Given the description of an element on the screen output the (x, y) to click on. 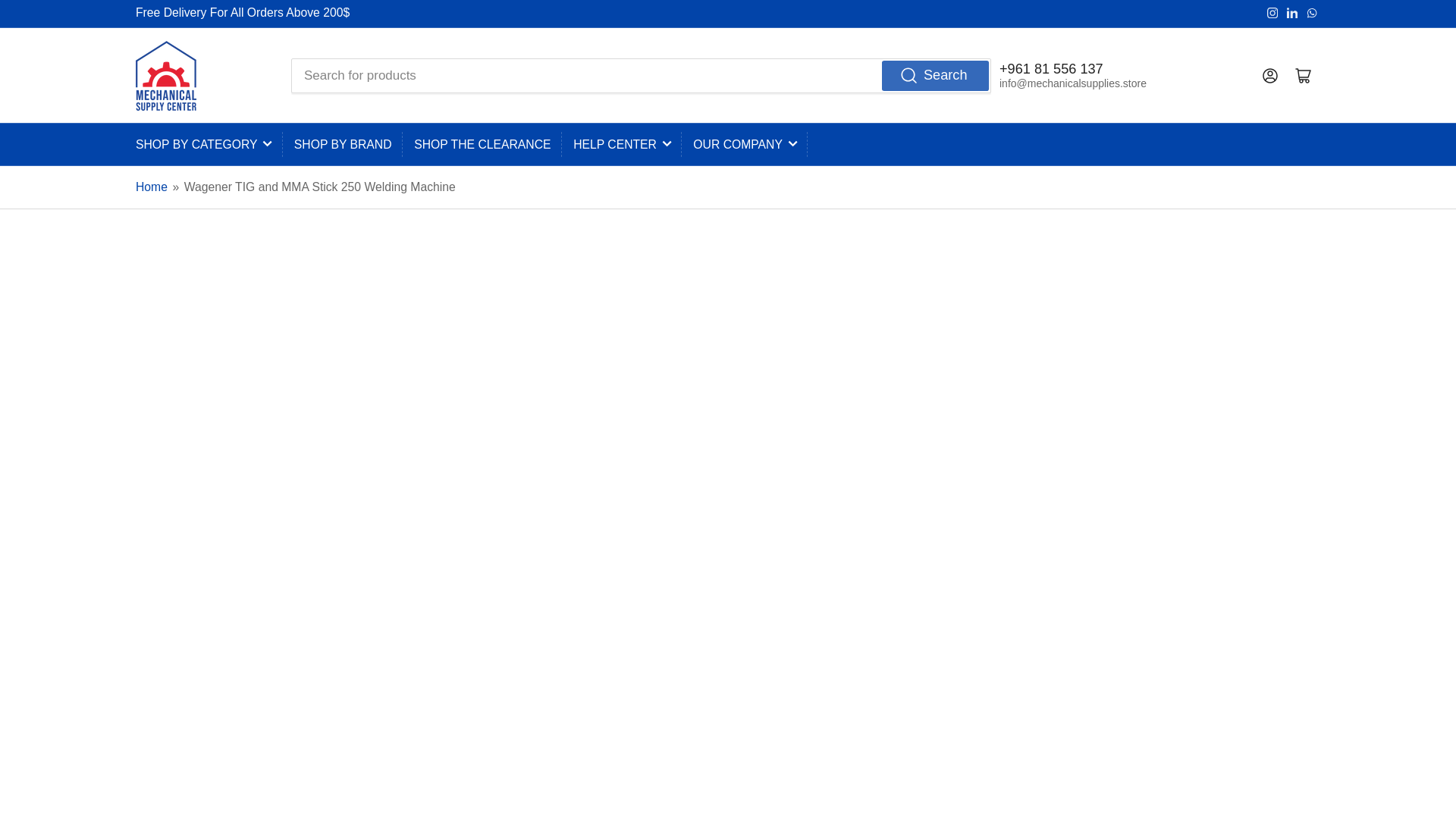
Log in (1270, 75)
LinkedIn (1292, 11)
Instagram (1271, 11)
WhatsApp (1312, 11)
Search (935, 75)
Open mini cart (1303, 75)
